Given the description of an element on the screen output the (x, y) to click on. 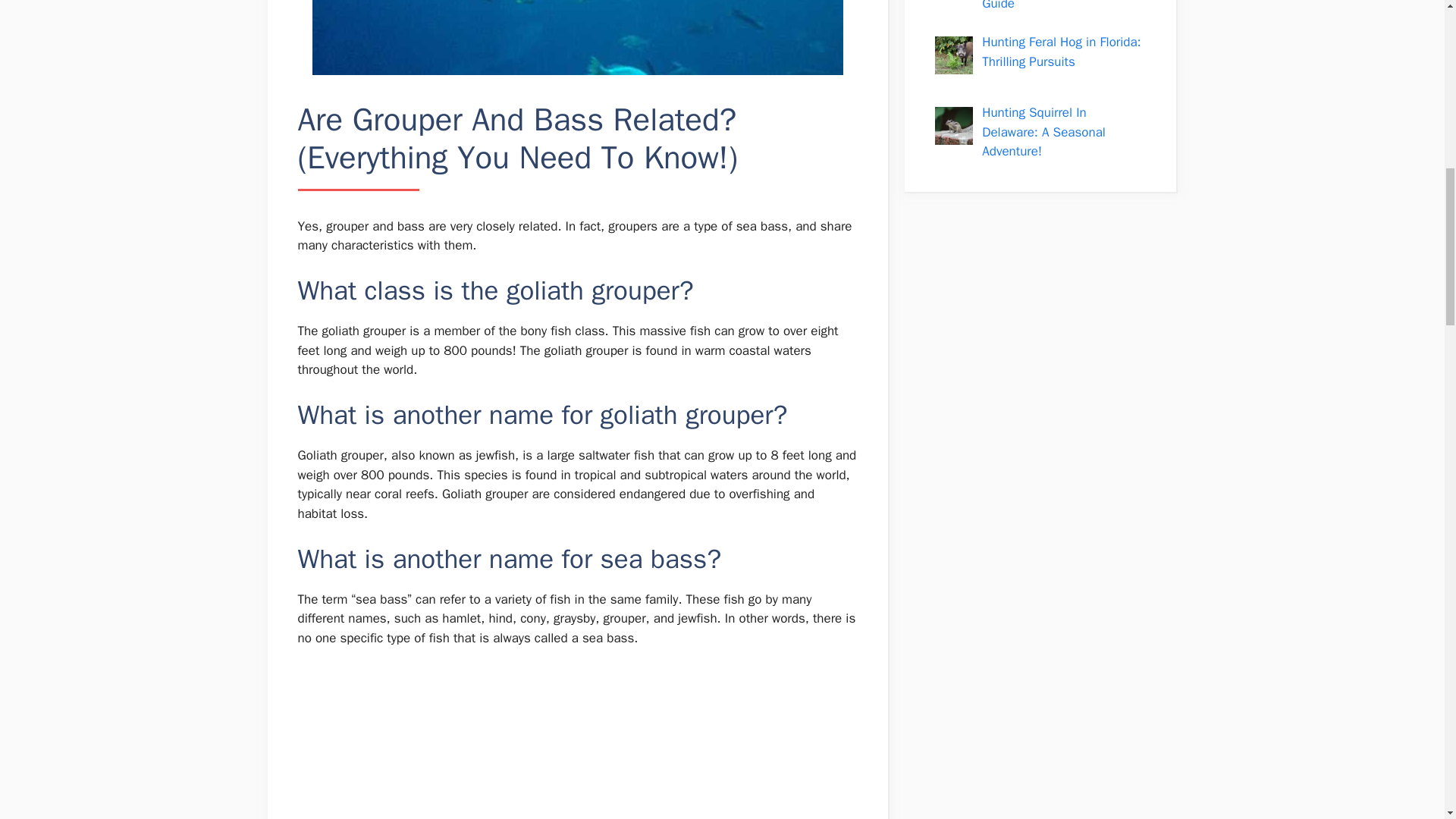
Hunting Blue-Winged Teal In Alabama: The Ultimate Guide (1060, 5)
Hunting Squirrel In Delaware: A Seasonal Adventure! (1043, 131)
5 Fish to NEVER Eat (577, 743)
Hunting Feral Hog in Florida: Thrilling Pursuits (1060, 51)
